Given the description of an element on the screen output the (x, y) to click on. 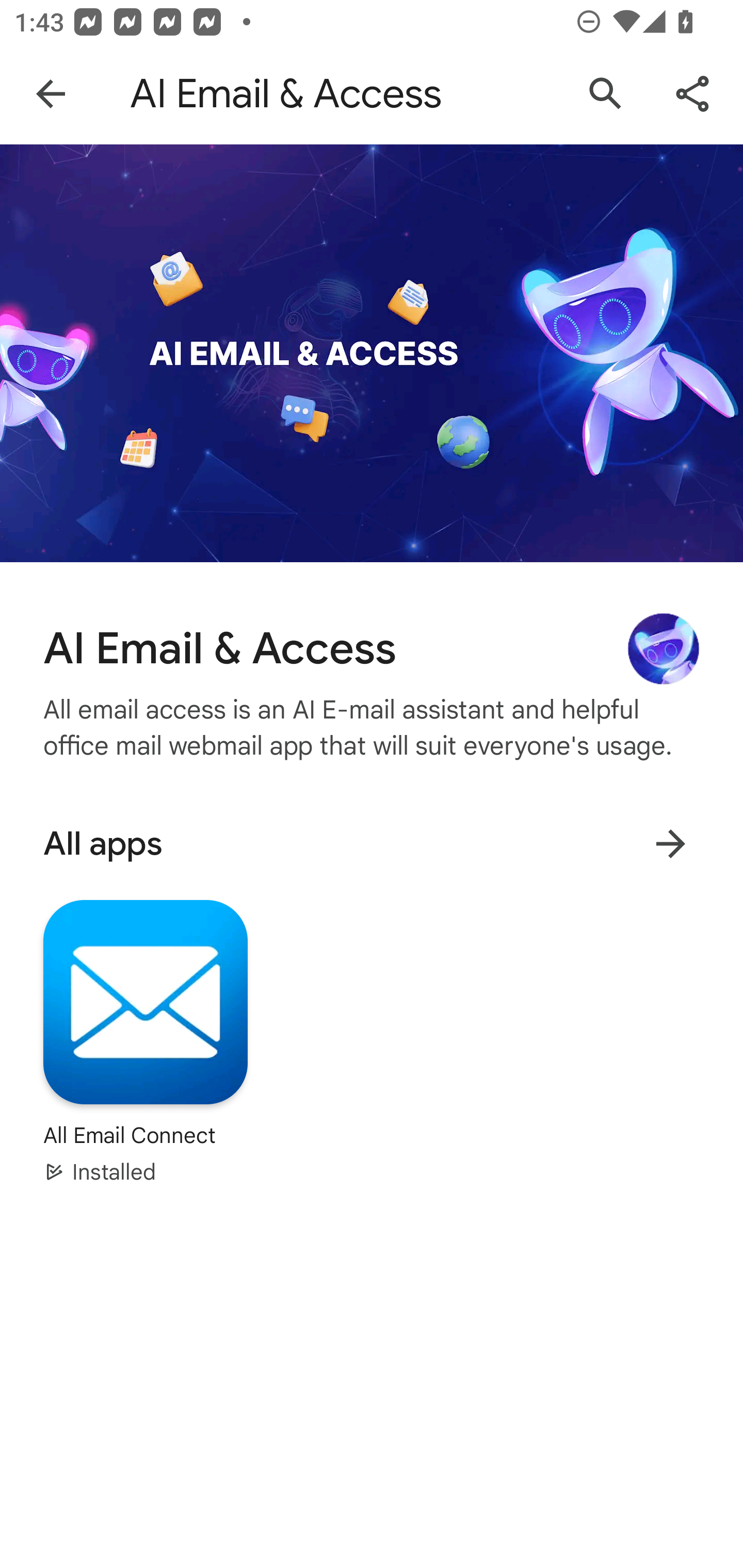
Navigate up (50, 93)
Search Google Play (605, 93)
Share (692, 93)
All apps More results for All apps (371, 843)
More results for All apps (670, 844)
All Email Connect
Installed
 (145, 1040)
